Given the description of an element on the screen output the (x, y) to click on. 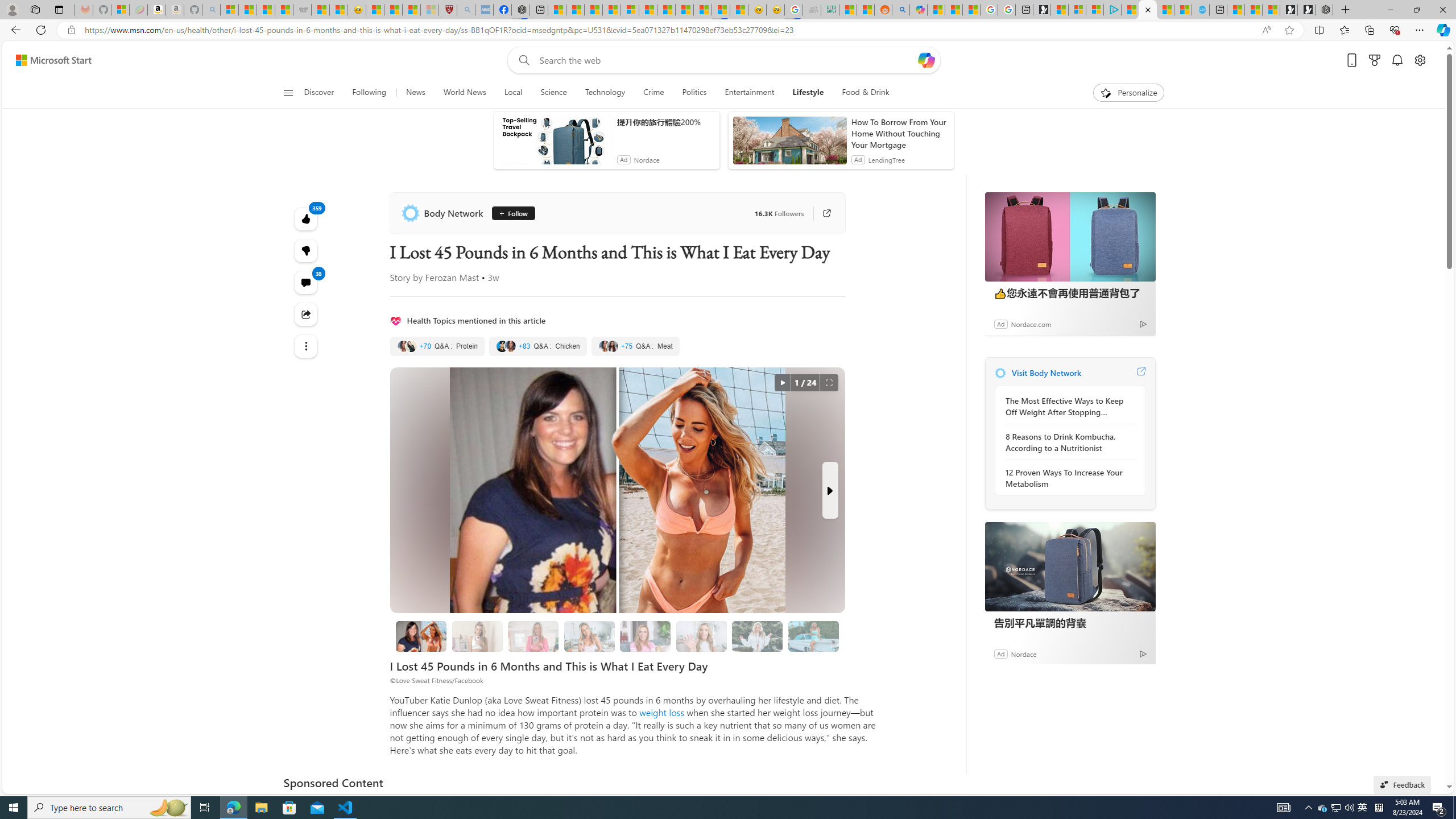
Visit Body Network website (1140, 372)
anim-content (789, 144)
1 Smoothie Bowl (476, 635)
